Given the description of an element on the screen output the (x, y) to click on. 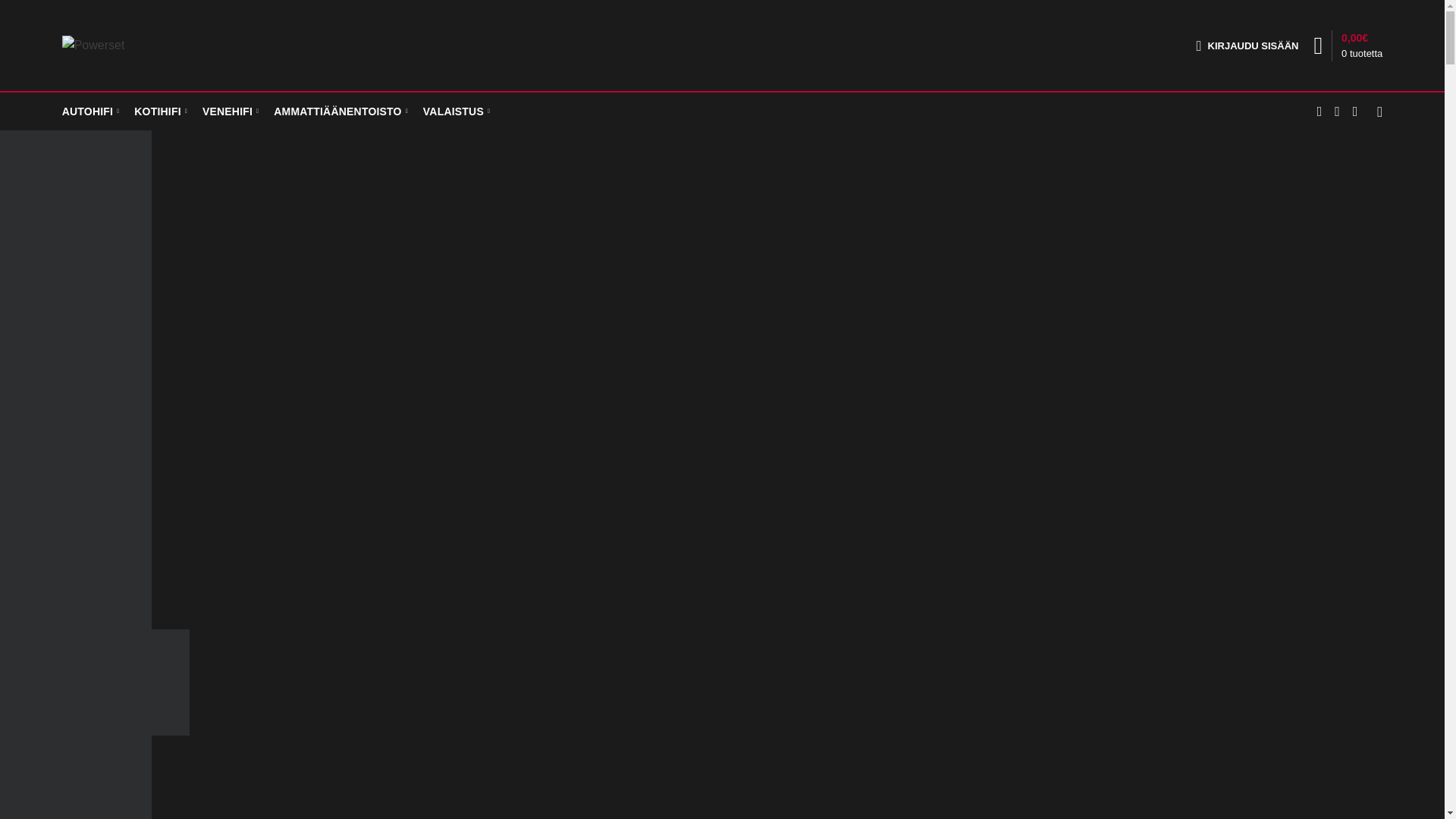
Ostoskori (1348, 45)
AUTOHIFI (91, 111)
Oma tili (1247, 45)
